Given the description of an element on the screen output the (x, y) to click on. 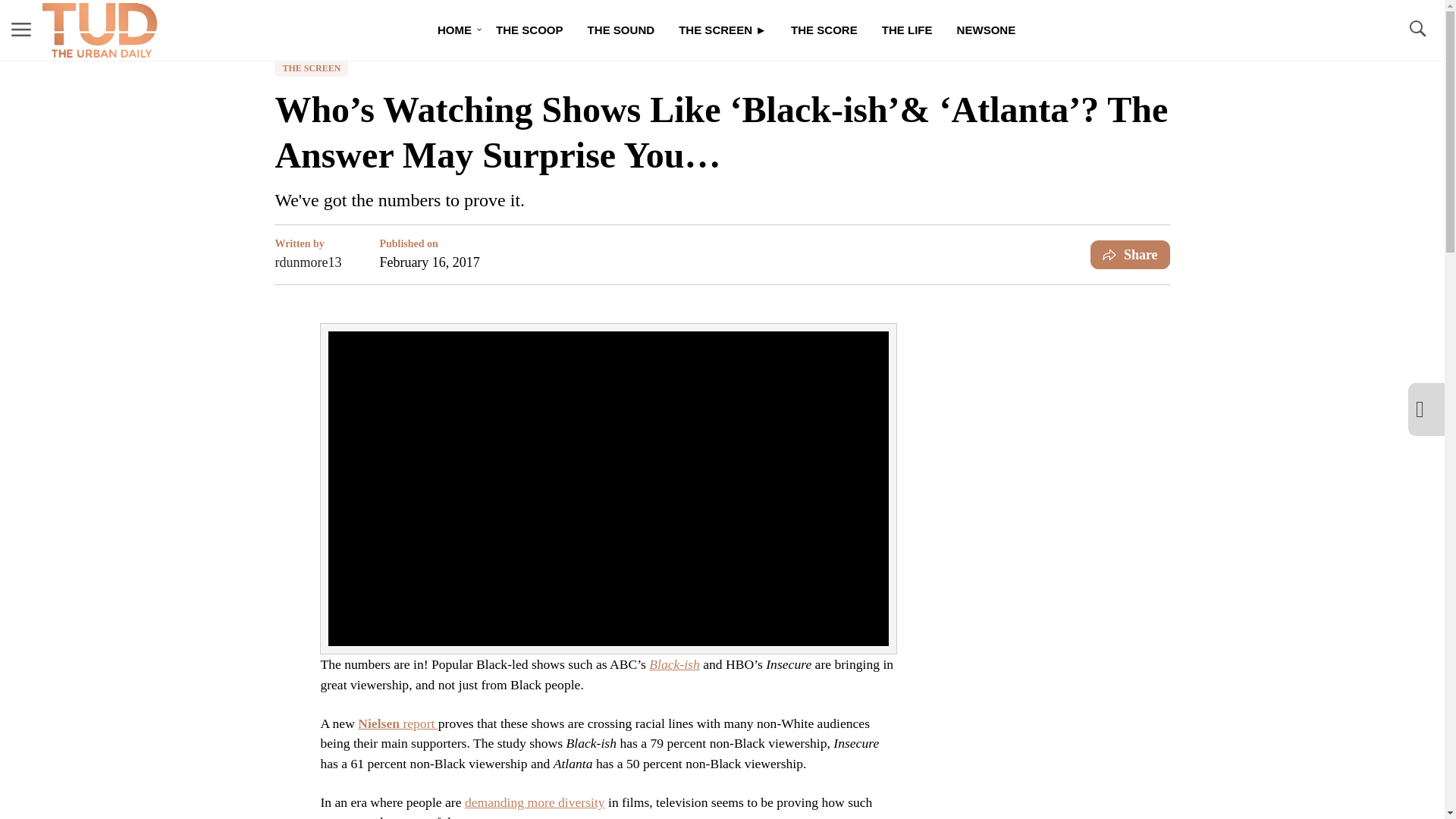
THE SOUND (620, 30)
Share (1130, 254)
TOGGLE SEARCH (1417, 30)
Nielsen report (398, 723)
MENU (20, 30)
rdunmore13 (307, 261)
THE SCREEN (311, 67)
NEWSONE (985, 30)
MENU (20, 29)
demanding more diversity (534, 801)
HOME (454, 30)
THE LIFE (906, 30)
Black-ish (673, 663)
THE SCOOP (529, 30)
TOGGLE SEARCH (1417, 28)
